Given the description of an element on the screen output the (x, y) to click on. 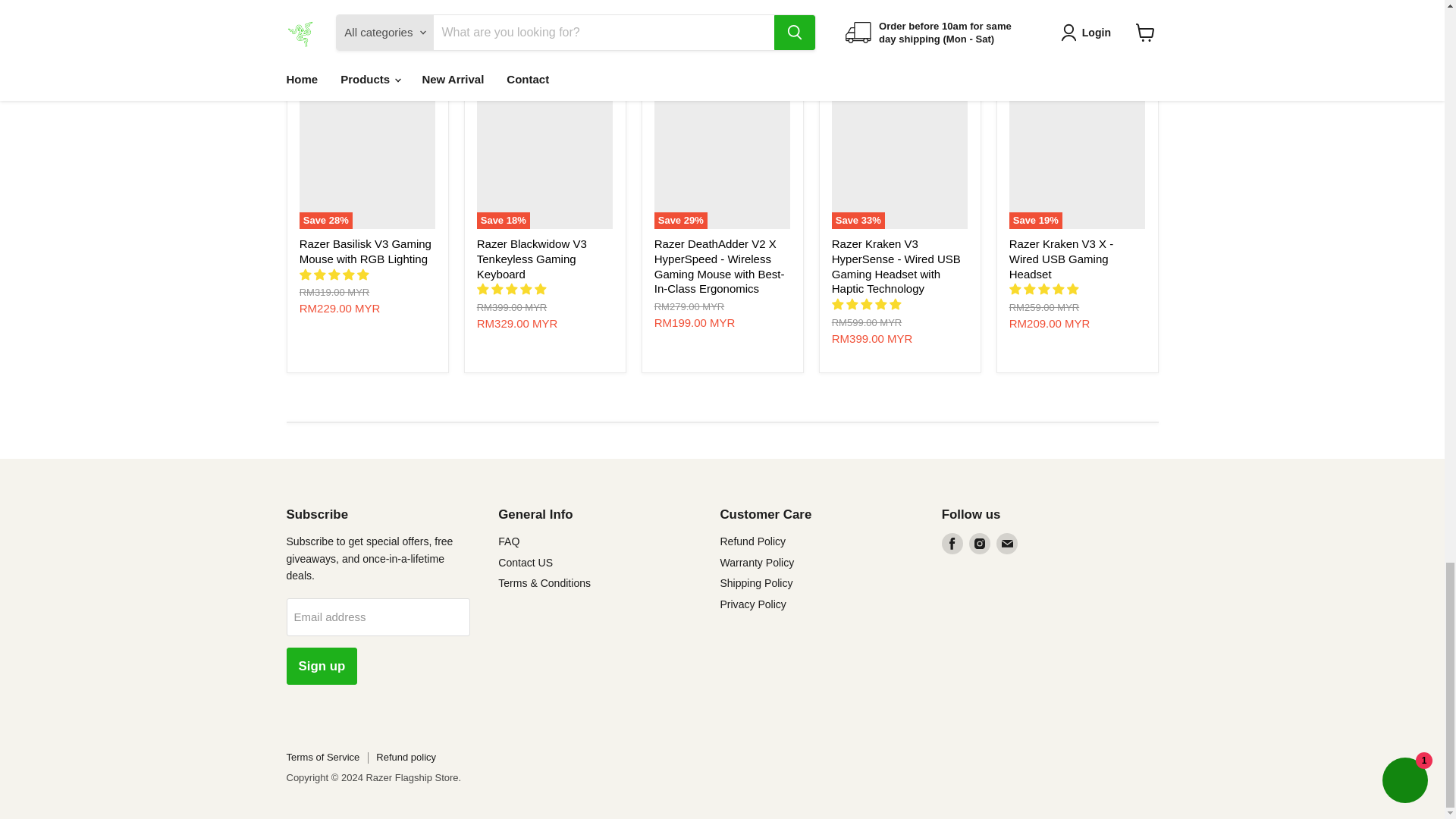
Instagram (979, 543)
Facebook (952, 543)
Email (1006, 543)
